Given the description of an element on the screen output the (x, y) to click on. 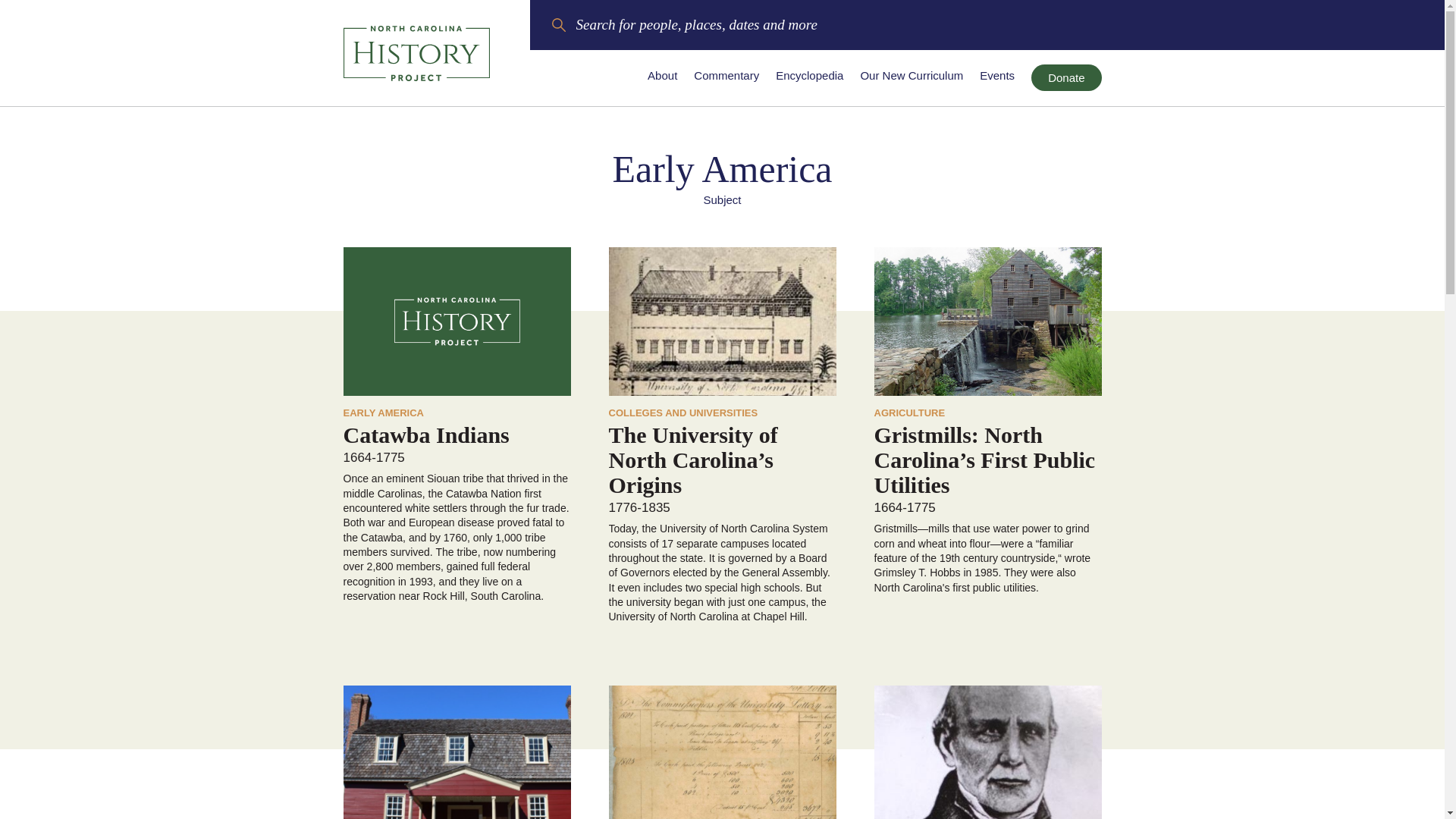
Encyclopedia (809, 74)
Donate (1065, 76)
Commentary (726, 74)
Events (996, 74)
Our New Curriculum (911, 74)
About (662, 74)
